Given the description of an element on the screen output the (x, y) to click on. 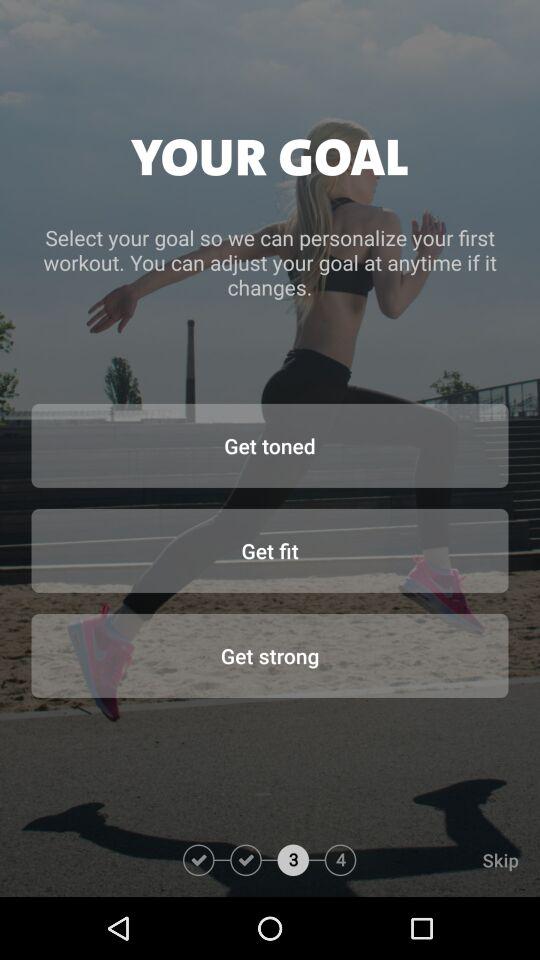
press the get strong icon (269, 655)
